Given the description of an element on the screen output the (x, y) to click on. 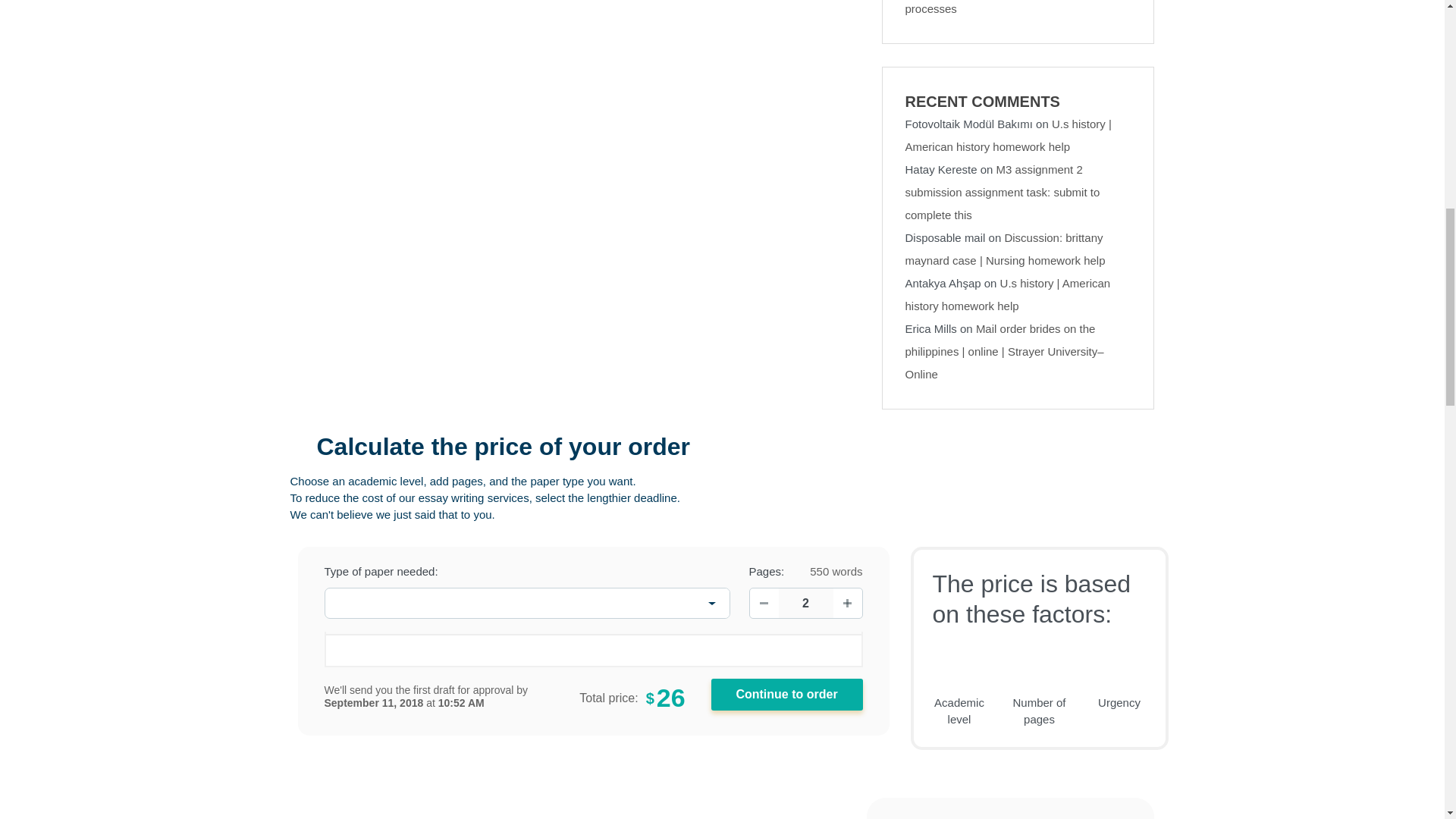
Increase (846, 602)
Continue to order (787, 694)
2 (804, 603)
Decrease (763, 602)
Continue to Order (787, 694)
Continue to order (787, 694)
